Given the description of an element on the screen output the (x, y) to click on. 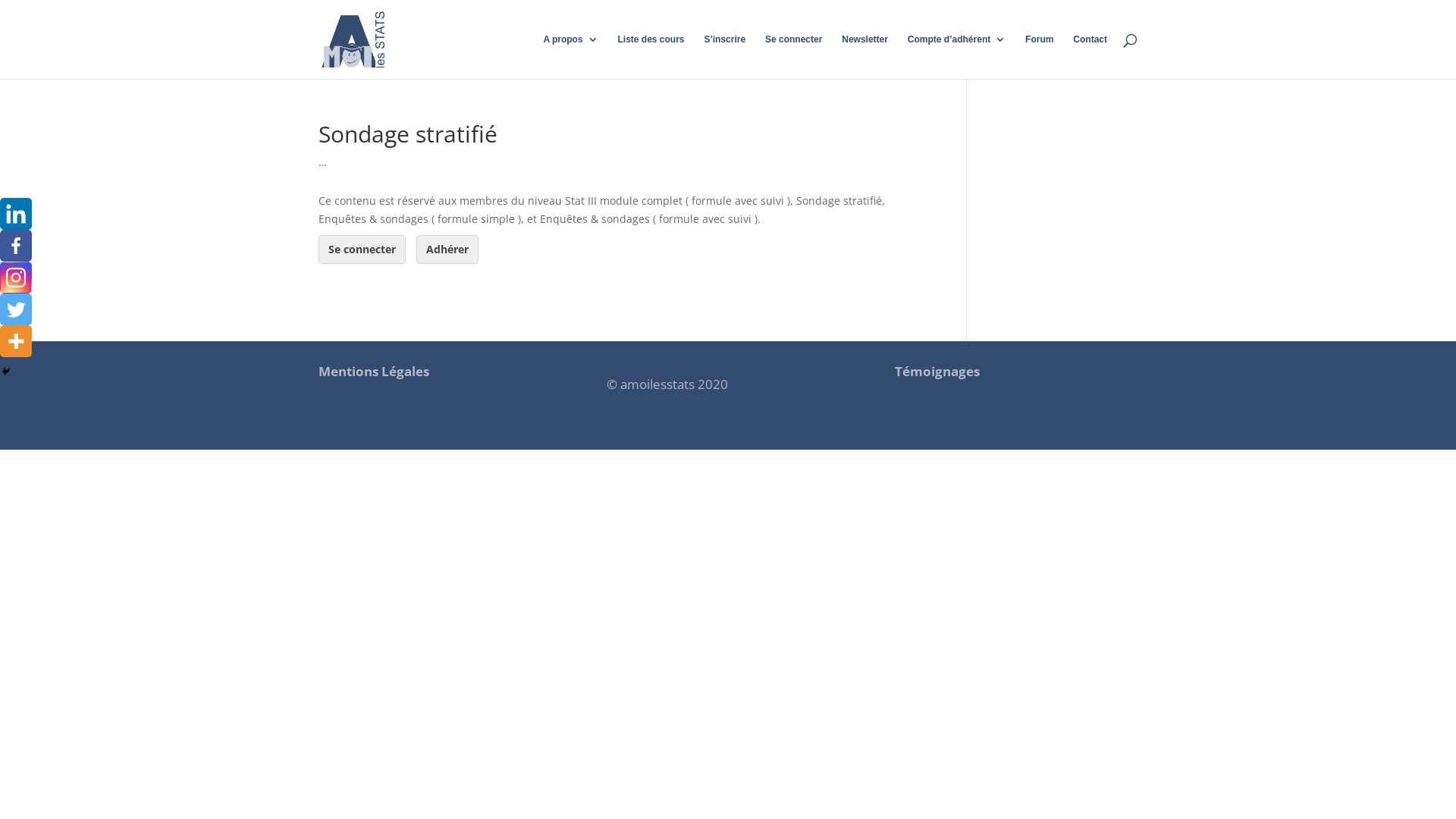
Facebook Element type: hover (15, 245)
Se connecter Element type: text (793, 56)
Linkedin Element type: hover (15, 213)
Instagram Element type: hover (15, 277)
A propos Element type: text (569, 56)
Se connecter Element type: text (361, 249)
Newsletter Element type: text (864, 56)
Hide Element type: hover (6, 371)
Contact Element type: text (1090, 56)
Liste des cours Element type: text (650, 56)
More Element type: hover (15, 341)
Twitter Element type: hover (15, 309)
Forum Element type: text (1039, 56)
